Given the description of an element on the screen output the (x, y) to click on. 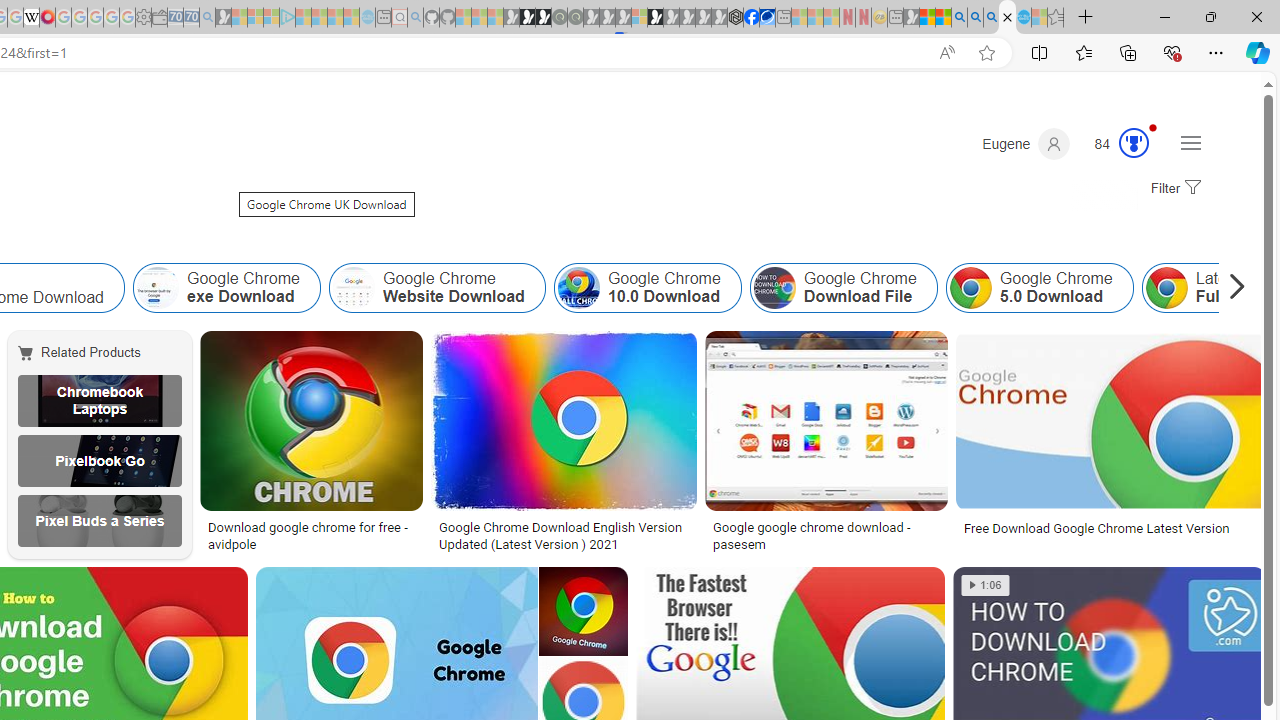
Bing AI - Search (959, 17)
Nordace | Facebook (751, 17)
2009 Bing officially replaced Live Search on June 3 - Search (975, 17)
Download google chrome for free - avidpole (310, 535)
Sign in to your account - Sleeping (639, 17)
Class: item col (1039, 287)
Download google chrome for free - avidpoleSave (315, 444)
Google Chrome Download File (774, 287)
MSN - Sleeping (911, 17)
